Given the description of an element on the screen output the (x, y) to click on. 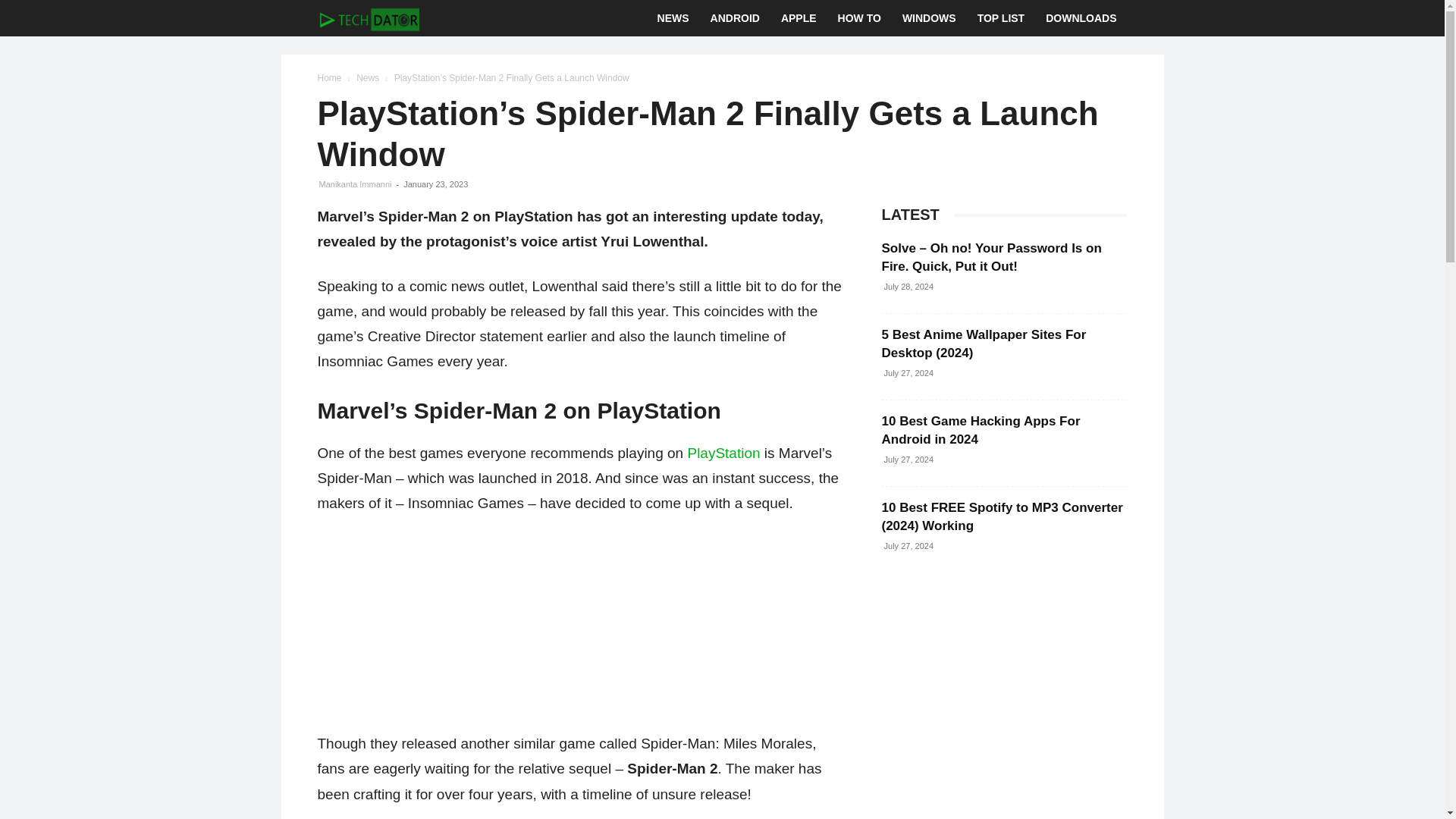
TechDator (368, 18)
Manikanta Immanni (354, 184)
View all posts in News (367, 77)
Home (328, 77)
News (367, 77)
TOP LIST (1000, 18)
HOW TO (859, 18)
APPLE (798, 18)
NEWS (673, 18)
DOWNLOADS (1080, 18)
ANDROID (735, 18)
TechDator (368, 18)
PlayStation (723, 453)
WINDOWS (928, 18)
